Given the description of an element on the screen output the (x, y) to click on. 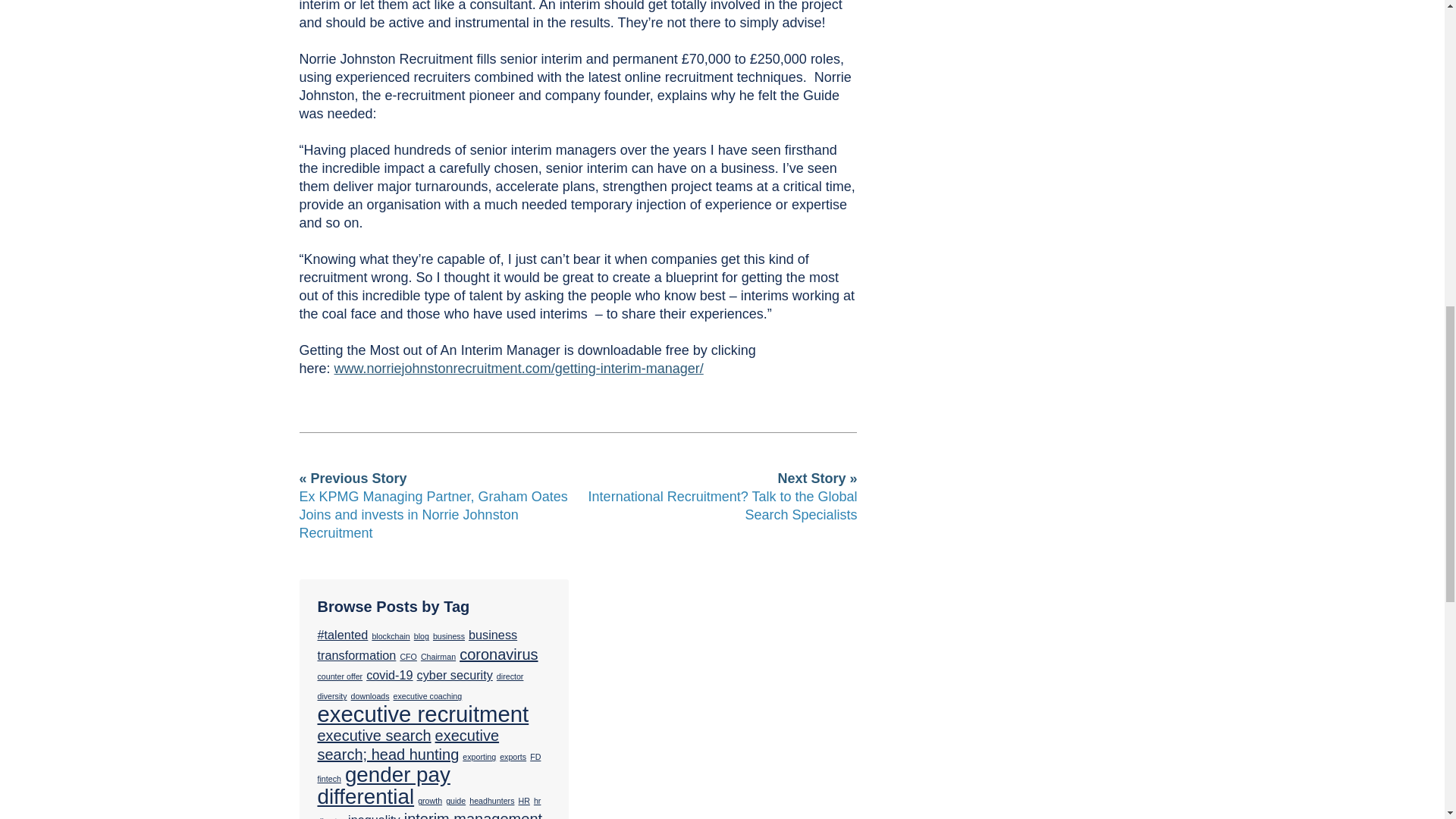
Getting the Most out of an Interim Manager (518, 368)
